Given the description of an element on the screen output the (x, y) to click on. 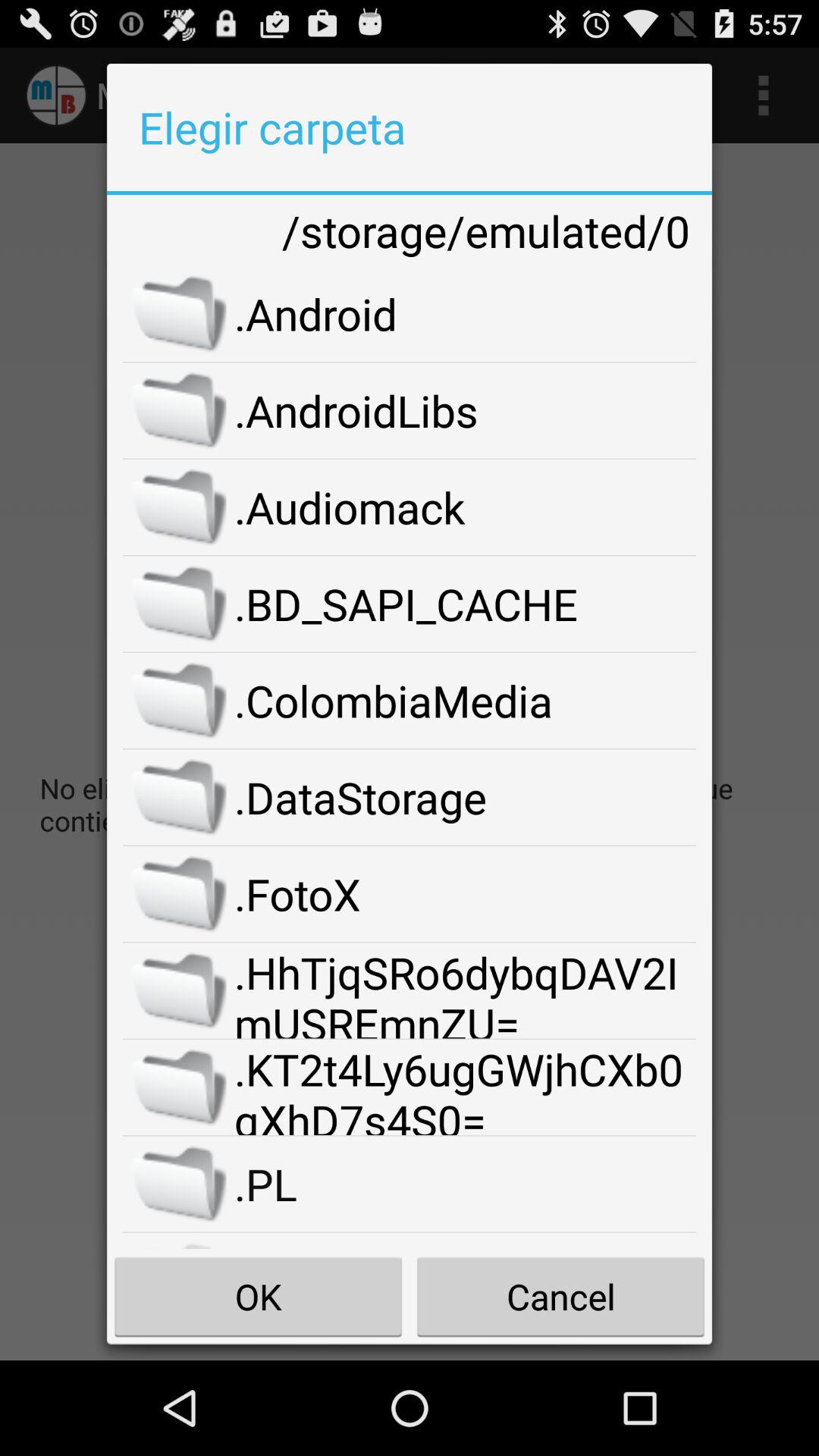
open the item below .sdkdownloads (560, 1296)
